Given the description of an element on the screen output the (x, y) to click on. 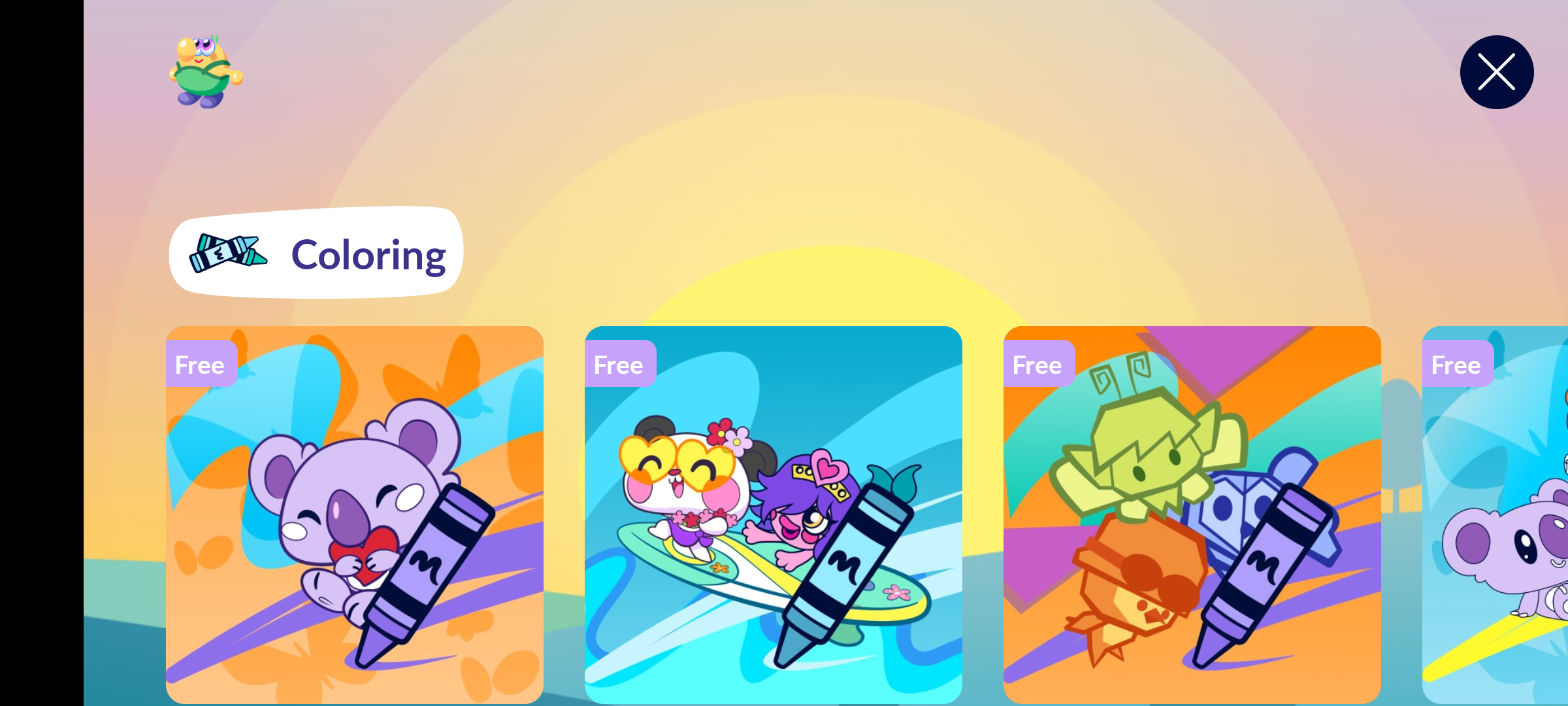
Profile icon (205, 71)
Featured Content Free (355, 514)
Featured Content Free (773, 514)
Featured Content Free (1192, 514)
